Given the description of an element on the screen output the (x, y) to click on. 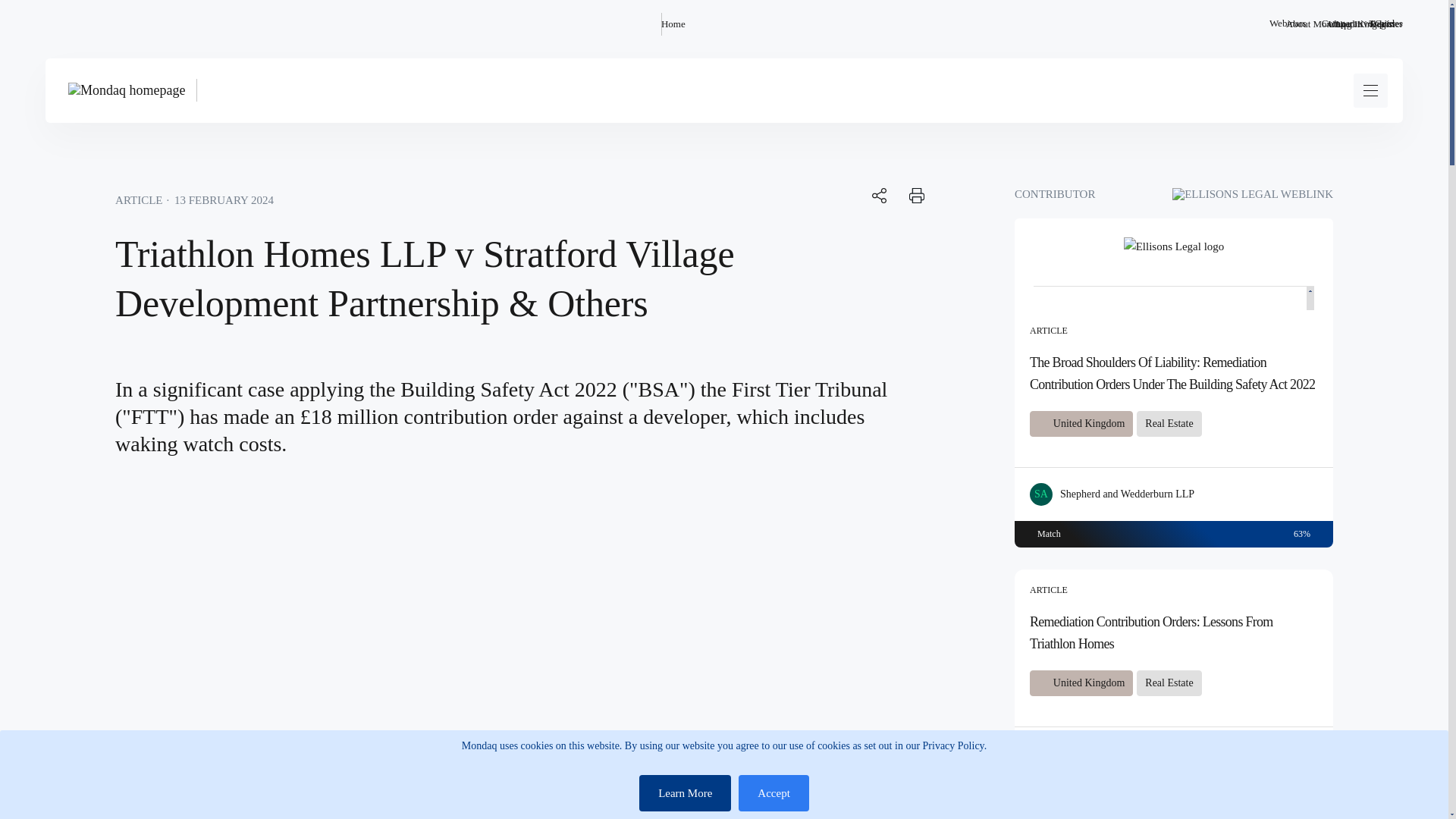
Webinars (1287, 23)
About Mondaq (1315, 24)
Home (673, 24)
Comparative Guides (1362, 23)
